Given the description of an element on the screen output the (x, y) to click on. 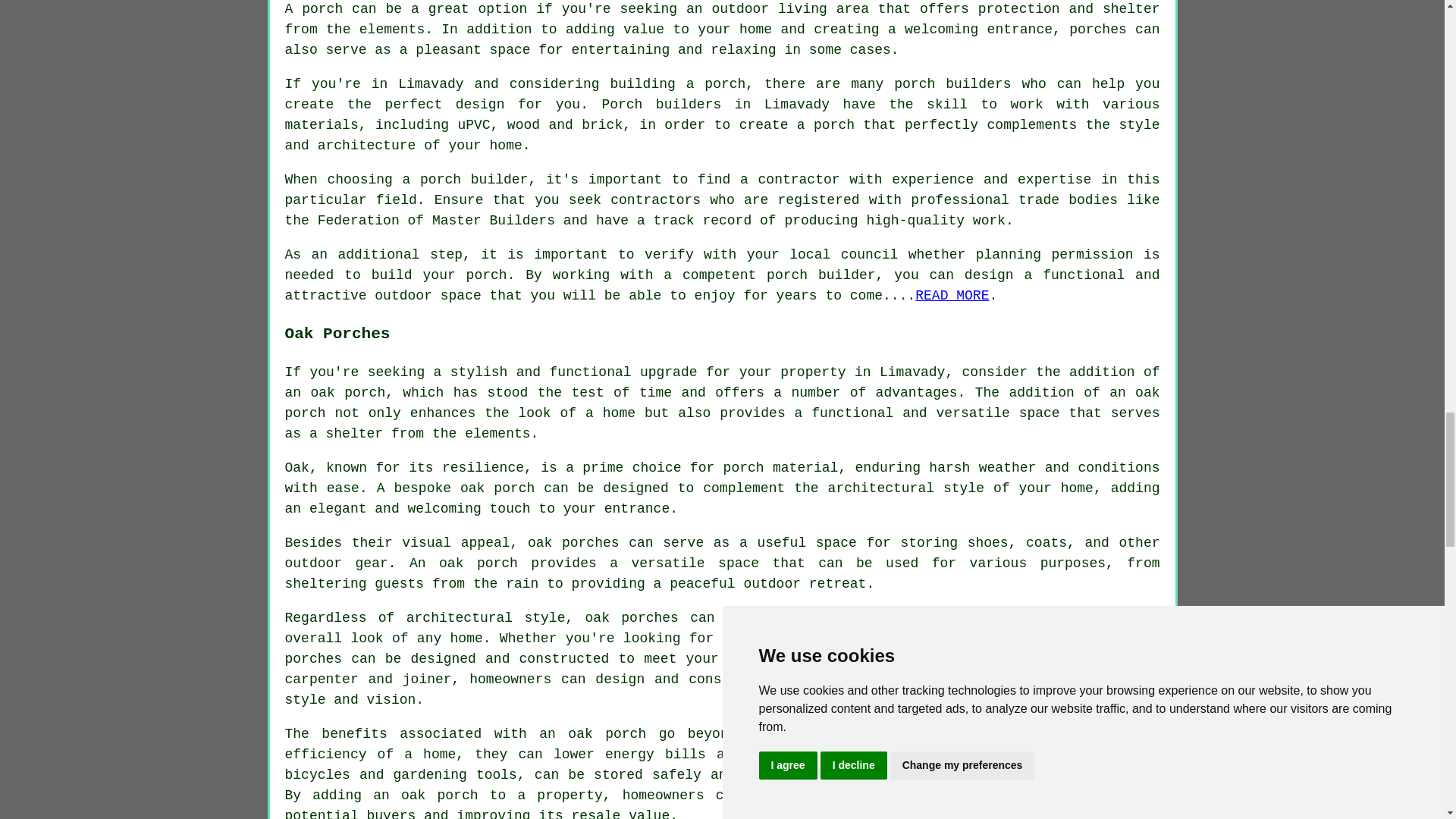
porches (1097, 29)
porch builders (951, 83)
oak porch (347, 392)
